Given the description of an element on the screen output the (x, y) to click on. 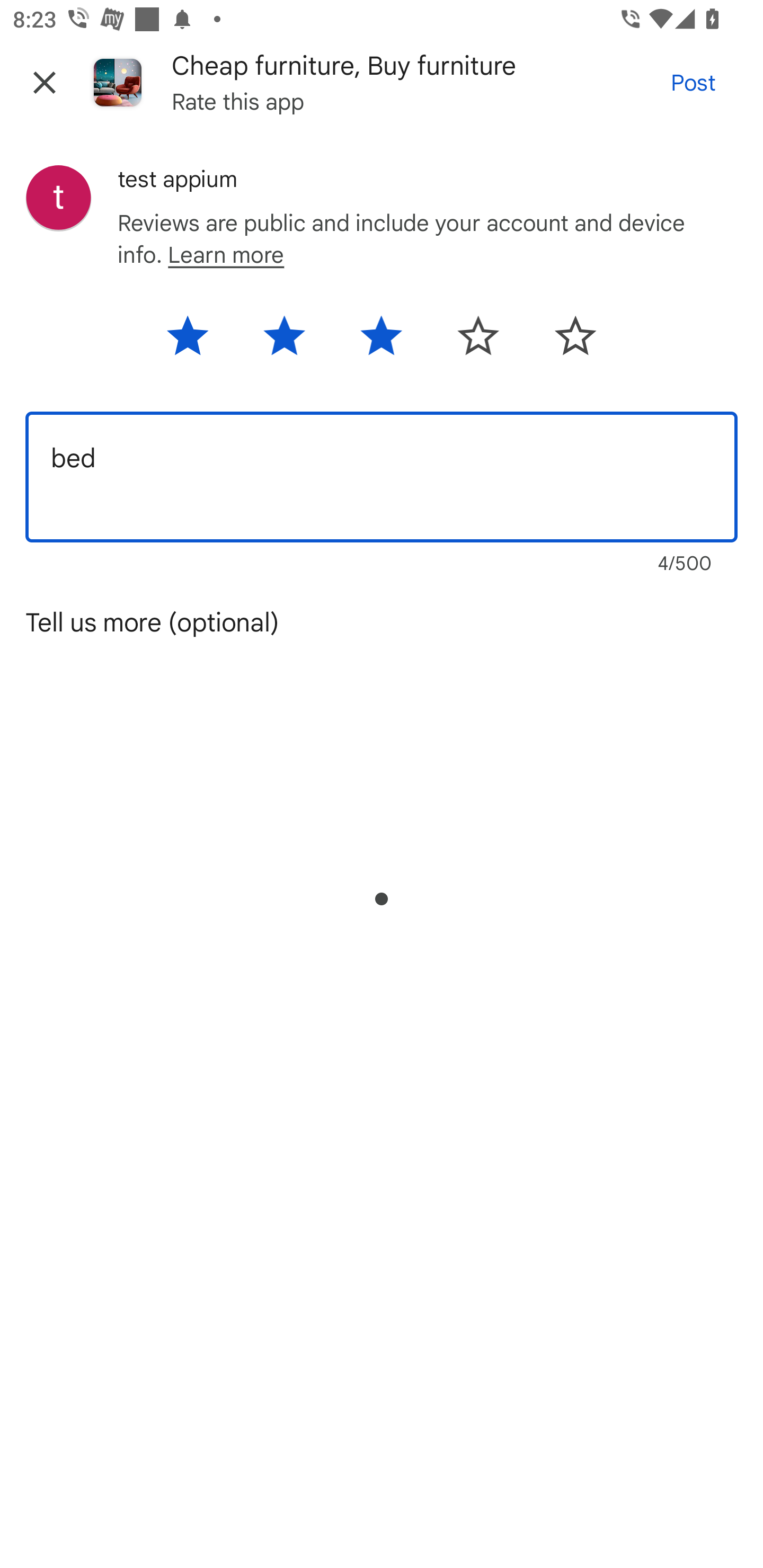
Close (44, 82)
Post (692, 81)
First star selected (198, 341)
Second star selected (283, 341)
Third star selected (380, 341)
Fourth star unselected (477, 341)
Fifth star unselected (563, 341)
bed
 (381, 476)
